Given the description of an element on the screen output the (x, y) to click on. 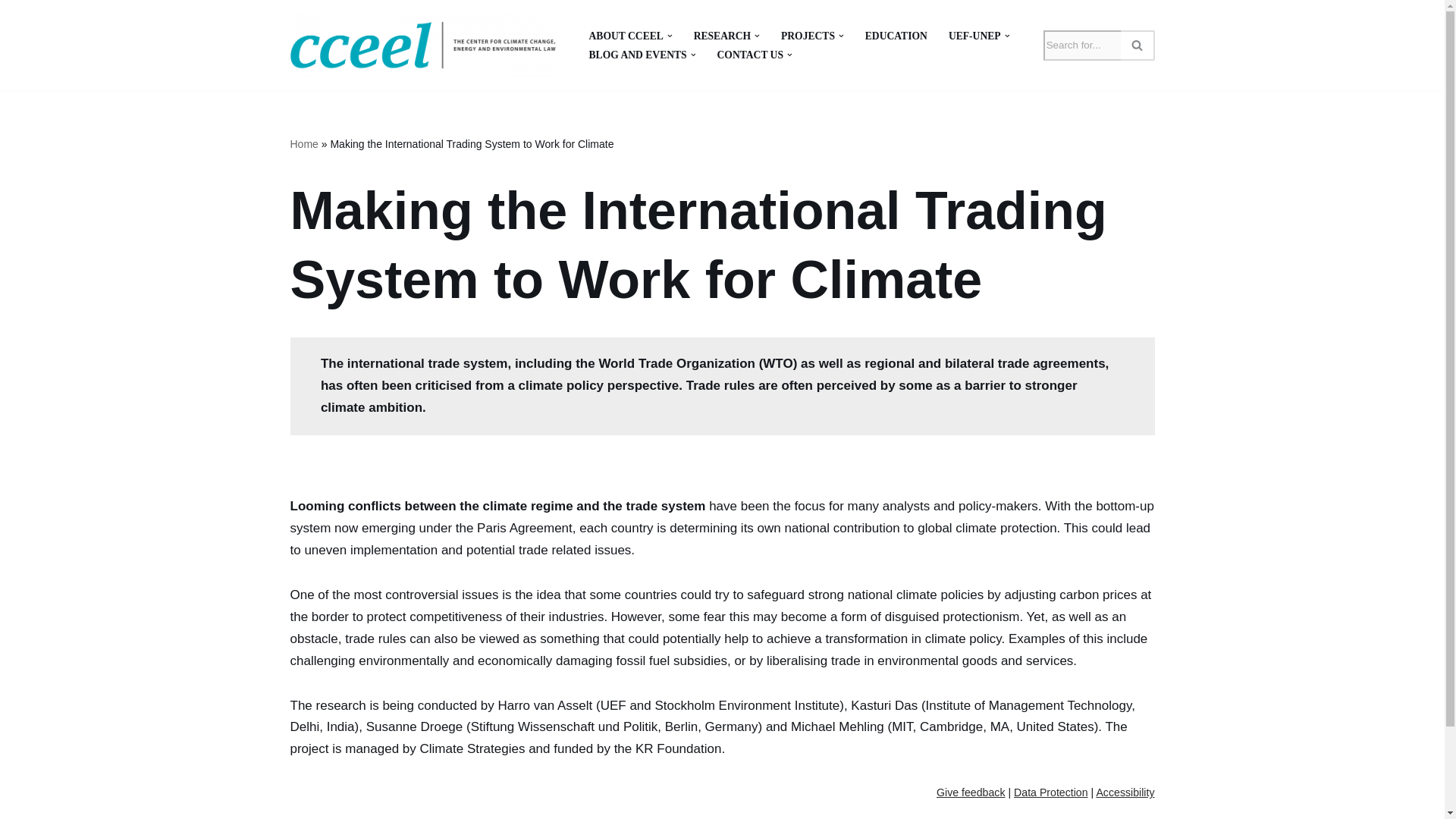
Skip to content (11, 31)
ABOUT CCEEL (625, 35)
BLOG AND EVENTS (636, 54)
UEF-UNEP (975, 35)
CONTACT US (749, 54)
EDUCATION (895, 35)
PROJECTS (807, 35)
RESEARCH (722, 35)
